Given the description of an element on the screen output the (x, y) to click on. 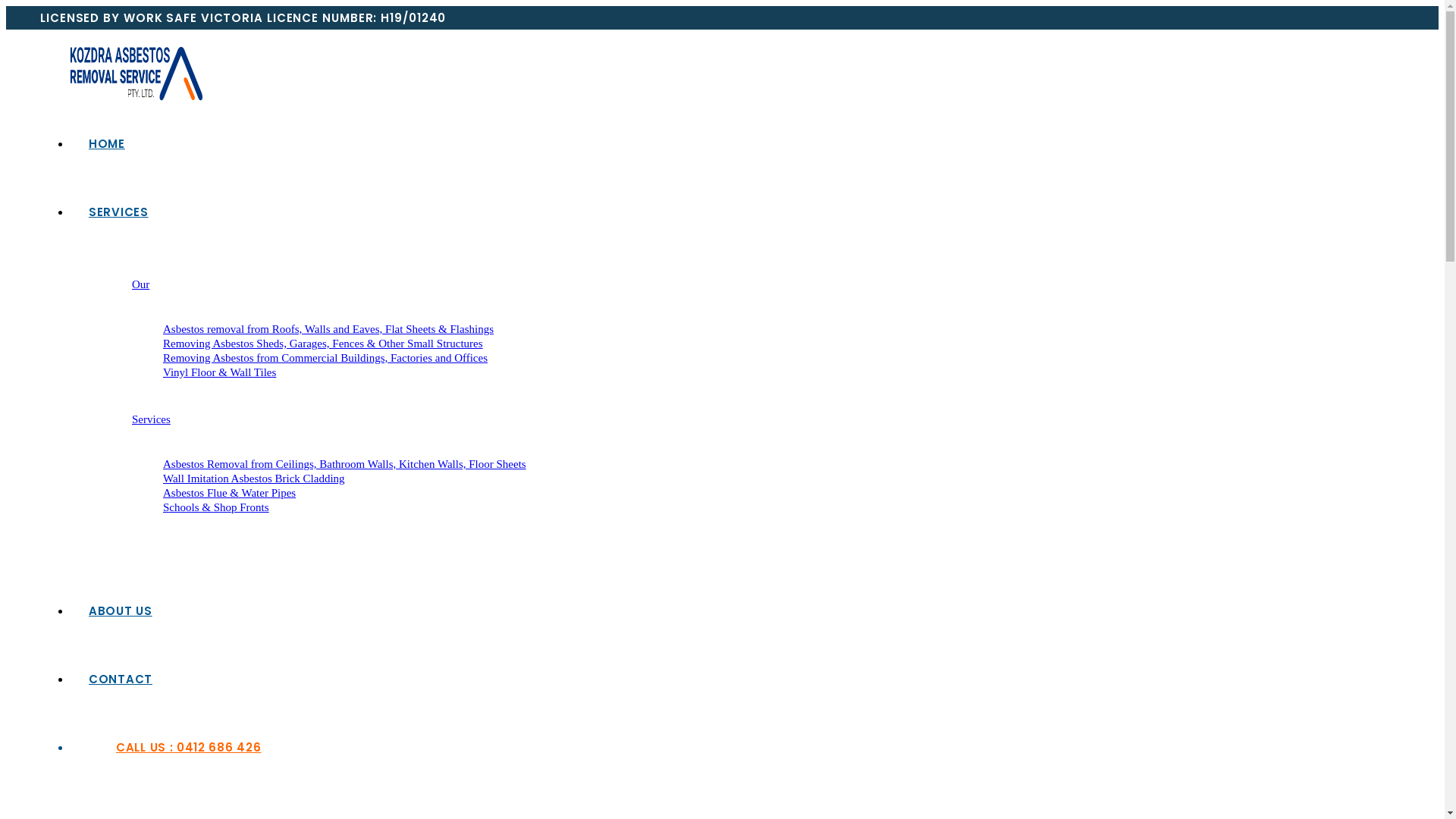
Wall Imitation Asbestos Brick Cladding Element type: text (253, 478)
Asbestos Flue & Water Pipes Element type: text (229, 492)
Services Element type: text (150, 419)
Skip to content Element type: text (5, 5)
CALL US : 0412 686 426 Element type: text (176, 747)
CONTACT Element type: text (120, 679)
Schools & Shop Fronts Element type: text (215, 507)
SERVICES Element type: text (118, 211)
HOME Element type: text (106, 143)
ABOUT US Element type: text (120, 610)
Vinyl Floor & Wall Tiles Element type: text (219, 372)
Our Element type: text (140, 284)
